Given the description of an element on the screen output the (x, y) to click on. 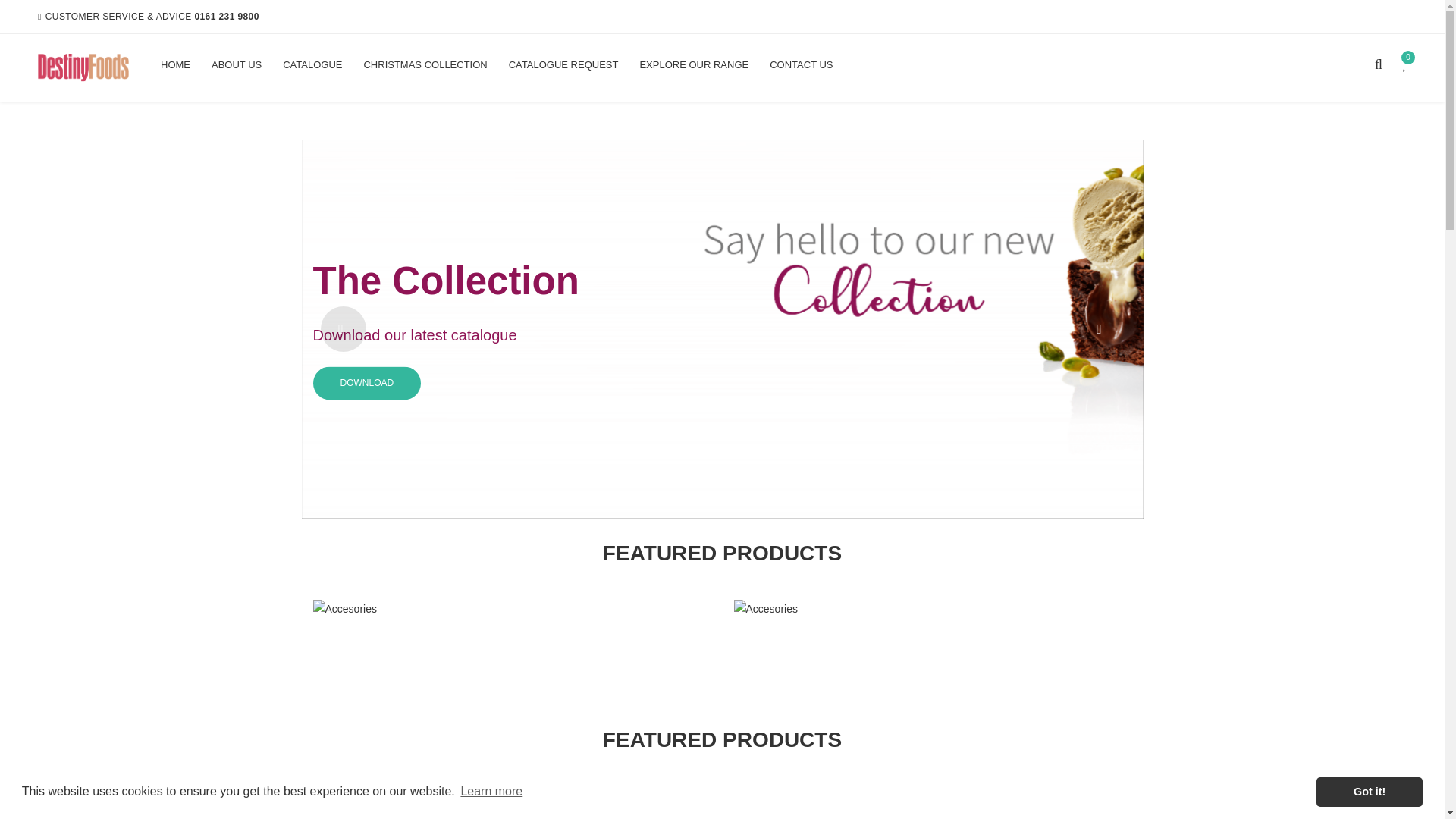
ABOUT US (236, 65)
EXPLORE OUR RANGE (693, 65)
Got it! (1369, 791)
CATALOGUE REQUEST (562, 65)
CATALOGUE (312, 65)
Learn more (491, 791)
CHRISTMAS COLLECTION (424, 65)
